Given the description of an element on the screen output the (x, y) to click on. 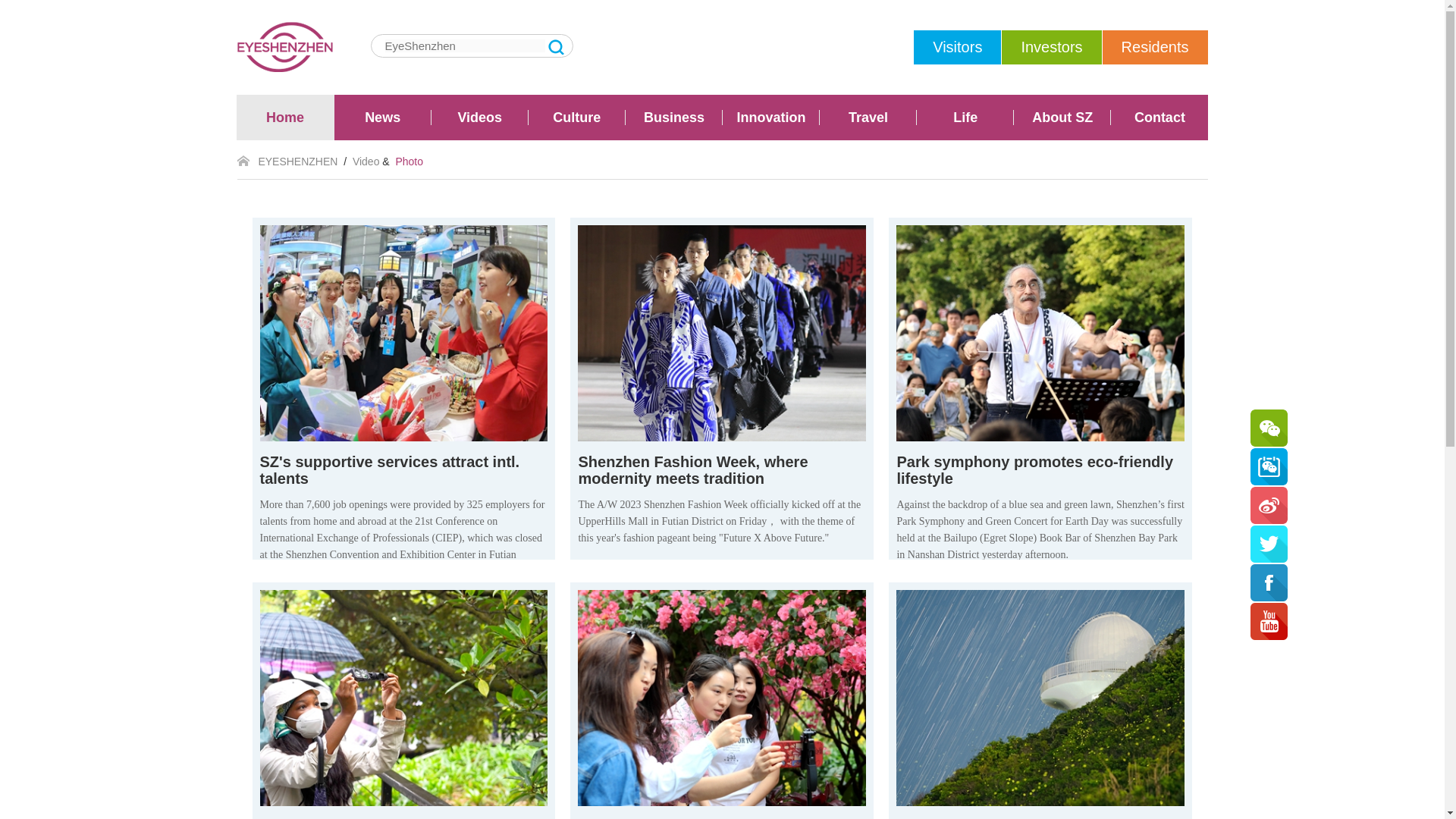
Business (674, 117)
Home (284, 117)
Residents (1155, 47)
Investors (1050, 47)
News (382, 117)
Culture (577, 117)
Visitors (957, 47)
Videos (479, 117)
